Given the description of an element on the screen output the (x, y) to click on. 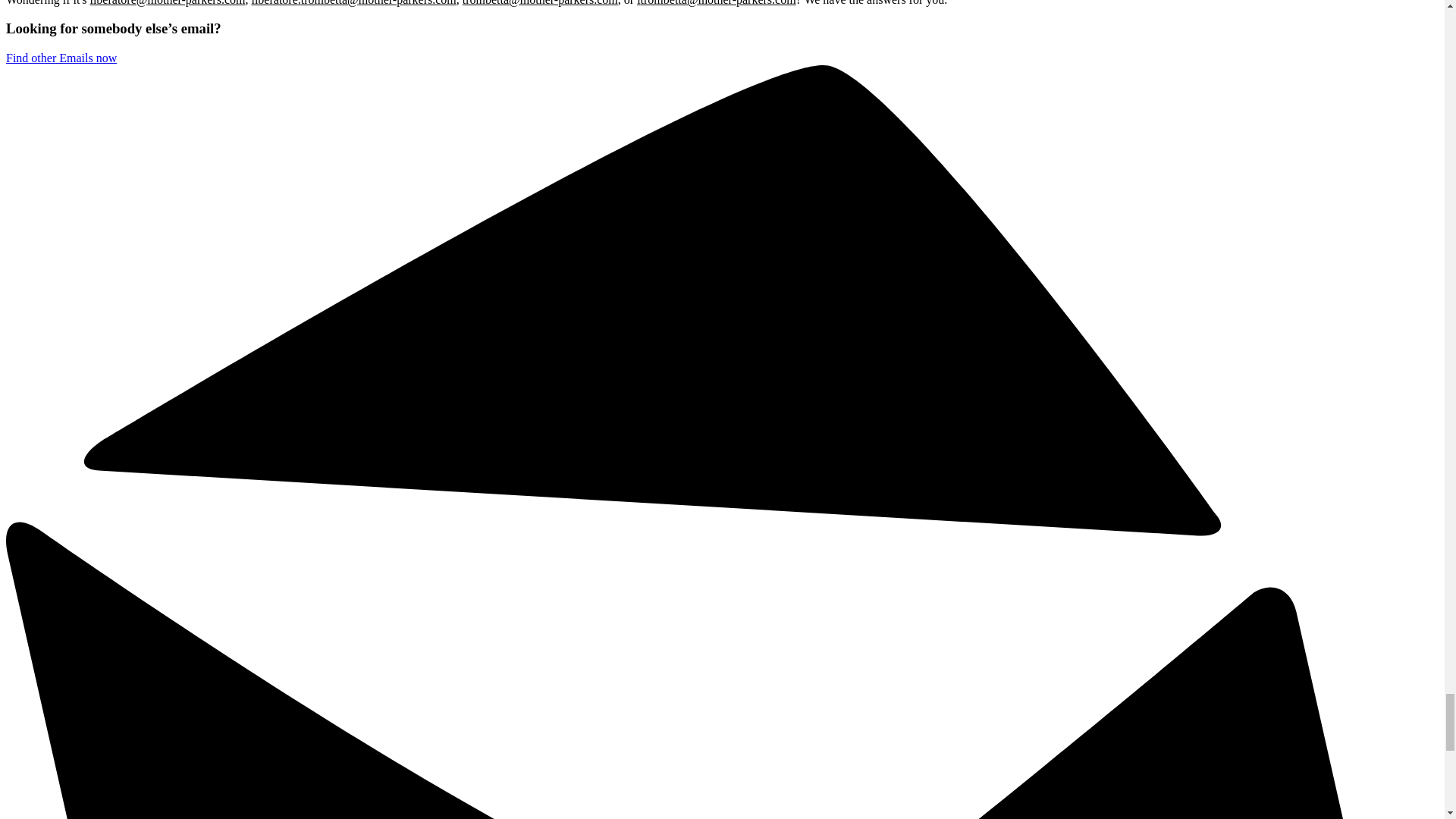
Find other Emails now (60, 57)
